Given the description of an element on the screen output the (x, y) to click on. 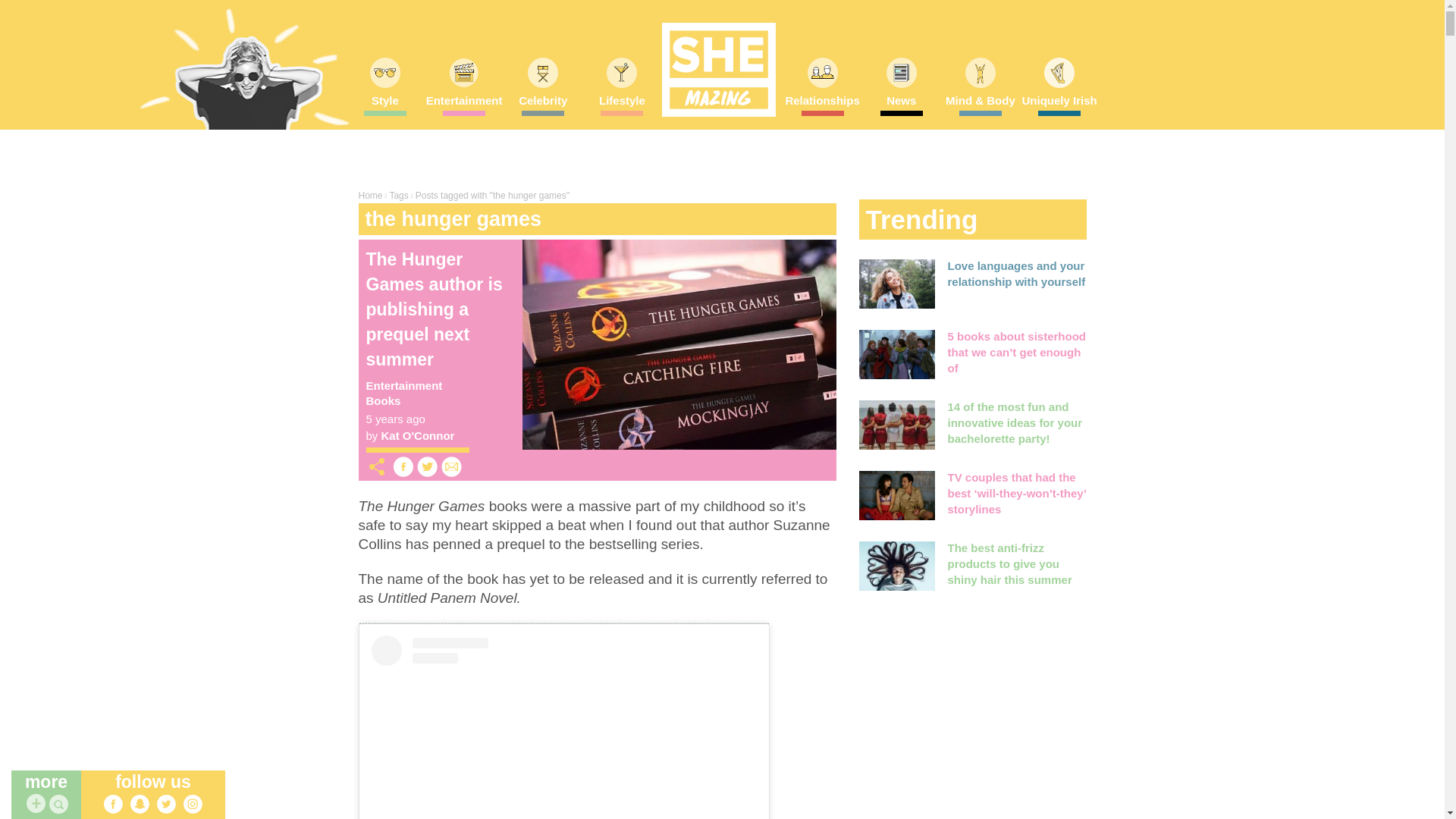
News (901, 104)
SHEmazing! (717, 69)
The Hunger Games author is publishing a prequel next summer (678, 344)
Lifestyle (621, 104)
Relationships (822, 104)
Celebrity (542, 104)
The Hunger Games author is publishing a prequel next summer (433, 308)
Style (385, 104)
Entertainment (464, 104)
